Given the description of an element on the screen output the (x, y) to click on. 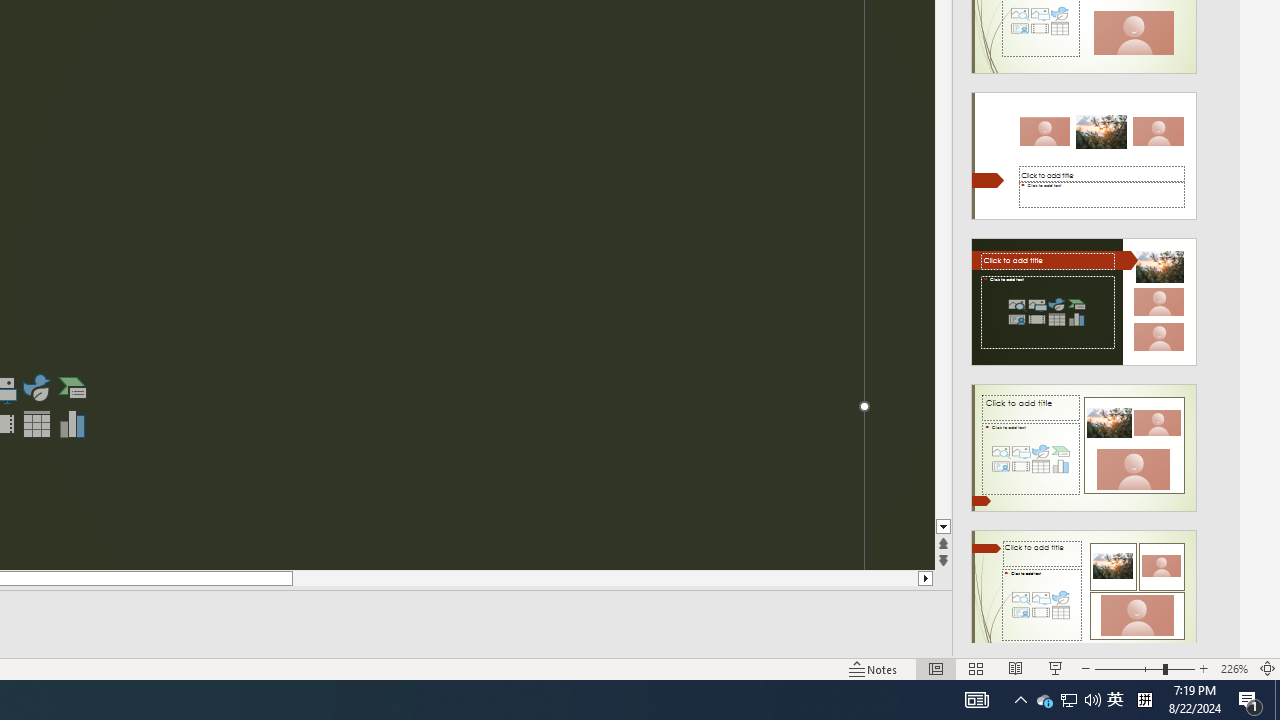
Zoom 226% (1234, 668)
